Given the description of an element on the screen output the (x, y) to click on. 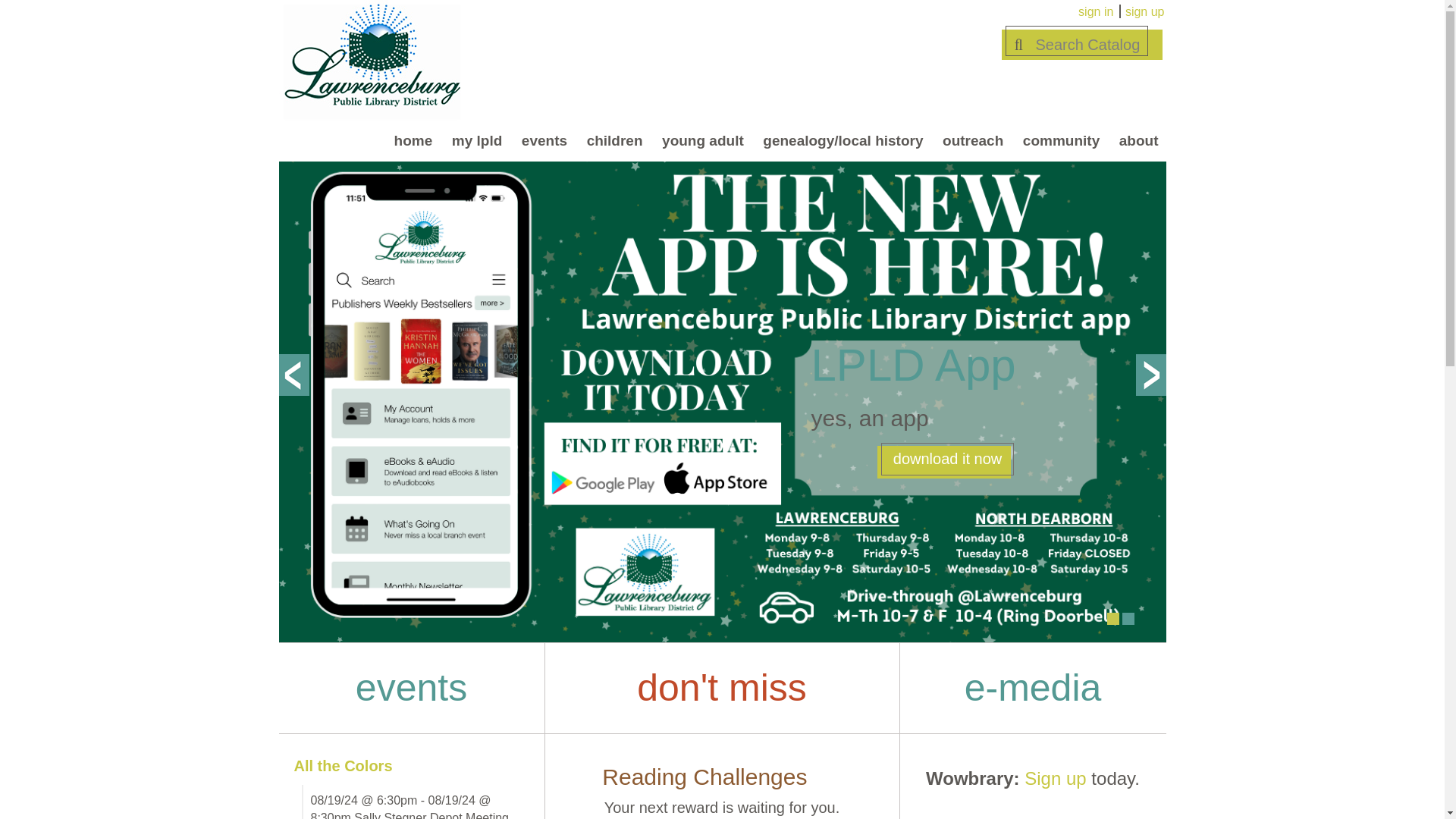
events (544, 142)
young adult (702, 142)
sign up (1144, 11)
my lpld (477, 142)
events (544, 142)
home (414, 142)
children (614, 142)
children (614, 142)
home (414, 142)
outreach (972, 142)
